Given the description of an element on the screen output the (x, y) to click on. 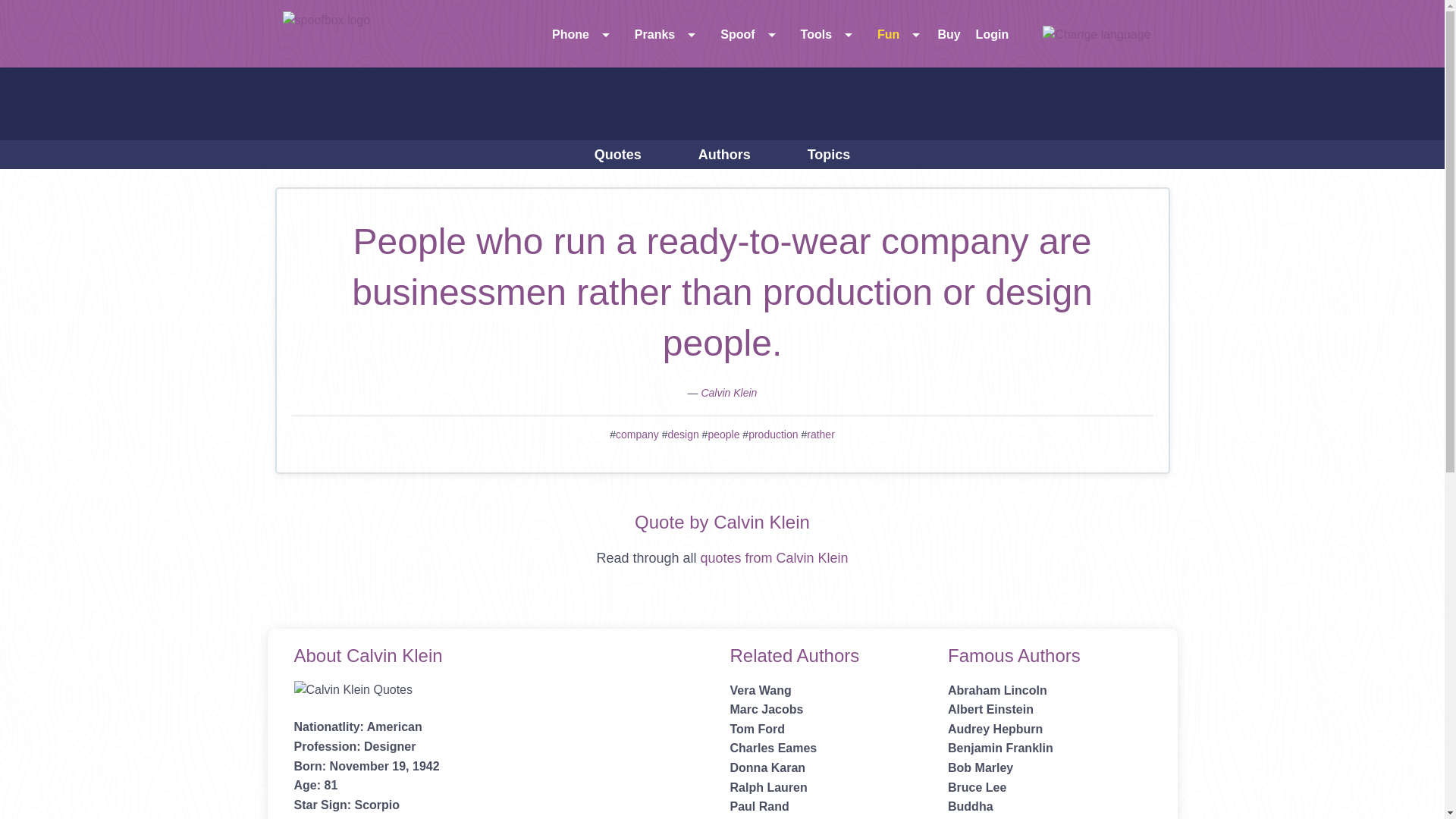
All Quotes by Calvin Klein (774, 557)
Change language (1096, 33)
Quotes by Calvin Klein (728, 392)
